Given the description of an element on the screen output the (x, y) to click on. 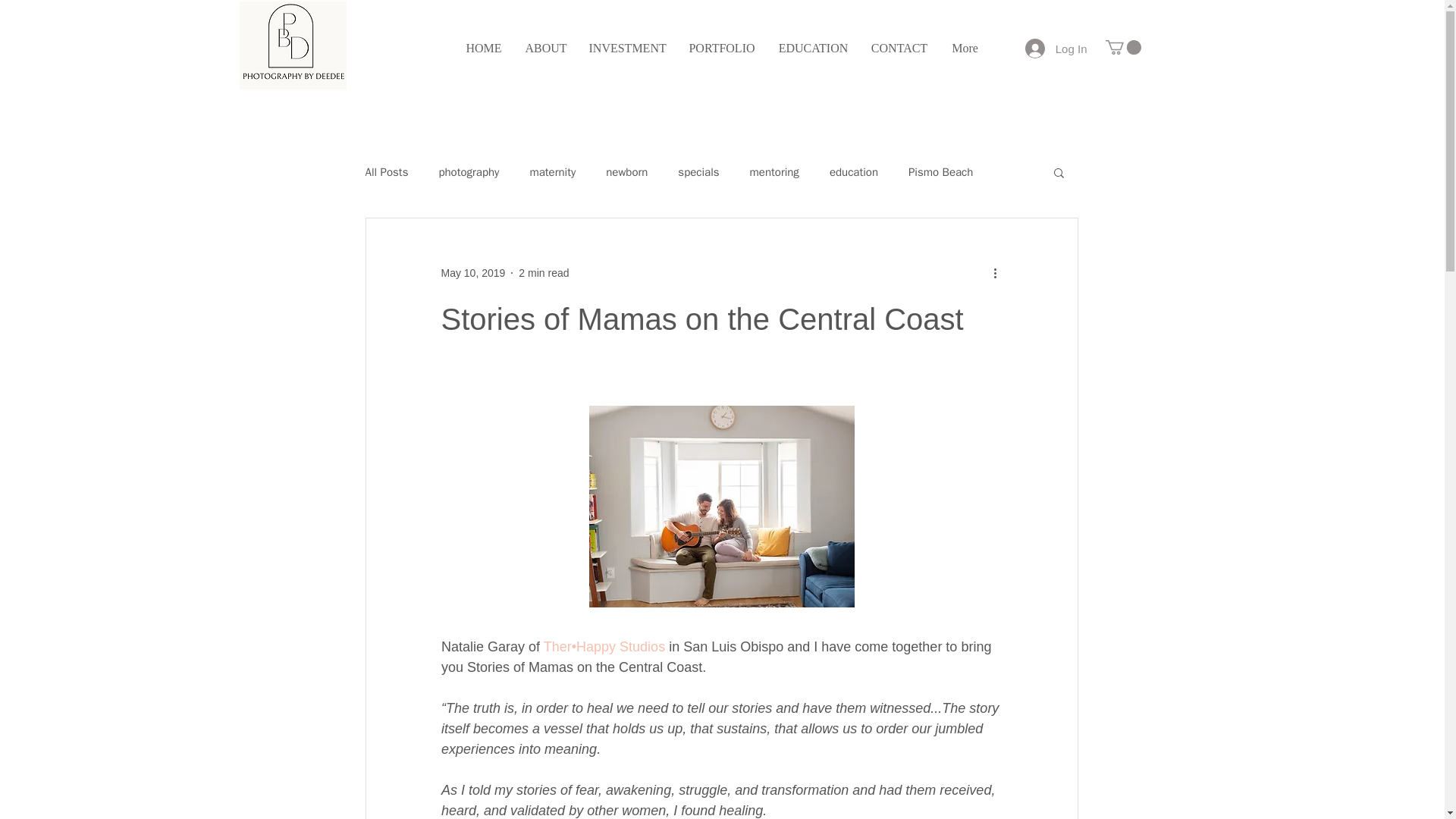
2 min read (543, 272)
May 10, 2019 (473, 272)
ABOUT (545, 48)
Log In (1055, 48)
CONTACT (899, 48)
HOME (482, 48)
specials (698, 172)
newborn (626, 172)
All Posts (387, 172)
education (853, 172)
